Given the description of an element on the screen output the (x, y) to click on. 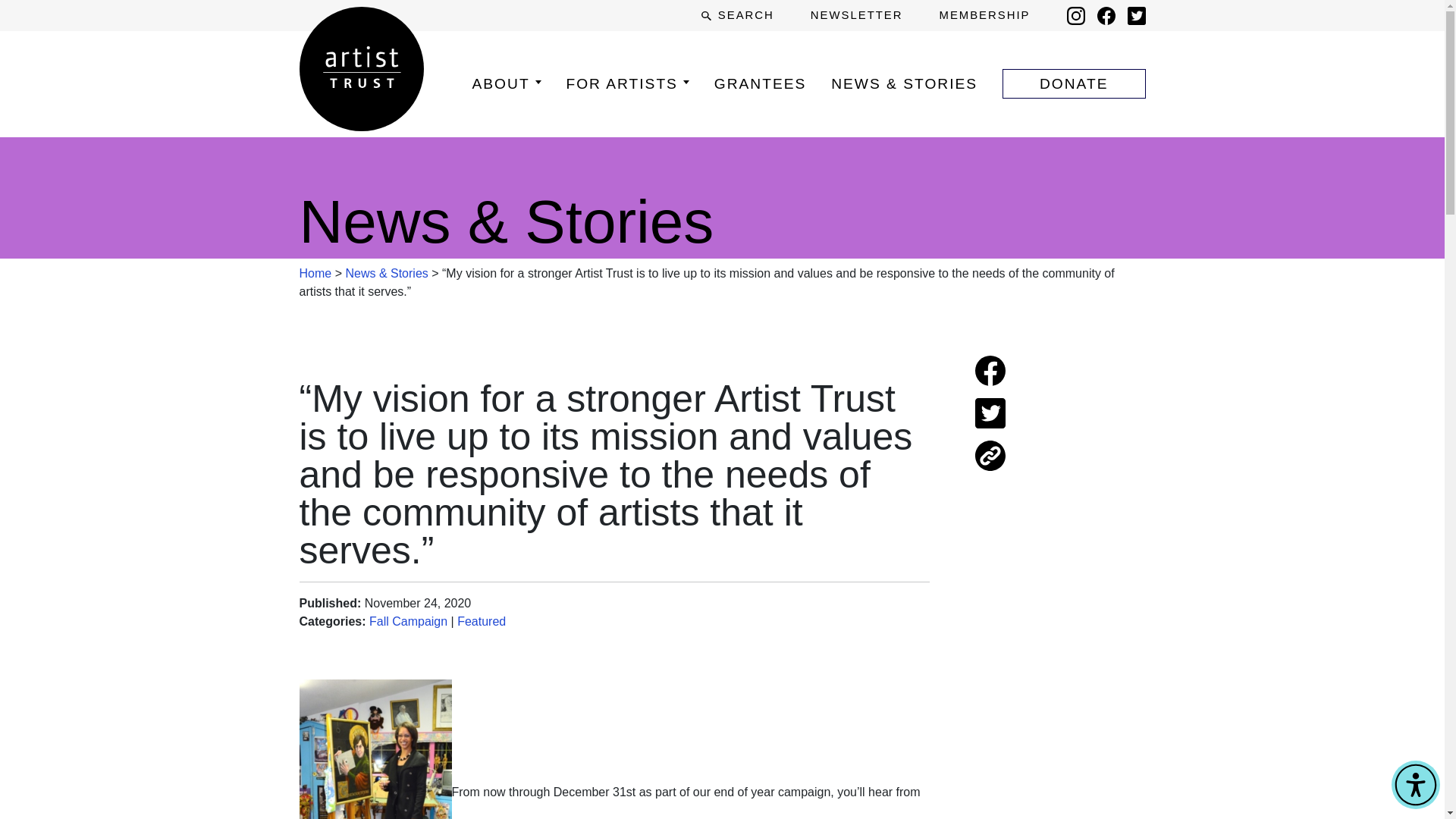
Instagram (1074, 15)
Twitter (1135, 15)
Facebook (1105, 15)
DONATE (1074, 83)
FOR ARTISTS (627, 83)
Accessibility Menu (1415, 784)
Home (314, 273)
SEARCH (737, 14)
GRANTEES (760, 83)
Fall Campaign (407, 621)
